Given the description of an element on the screen output the (x, y) to click on. 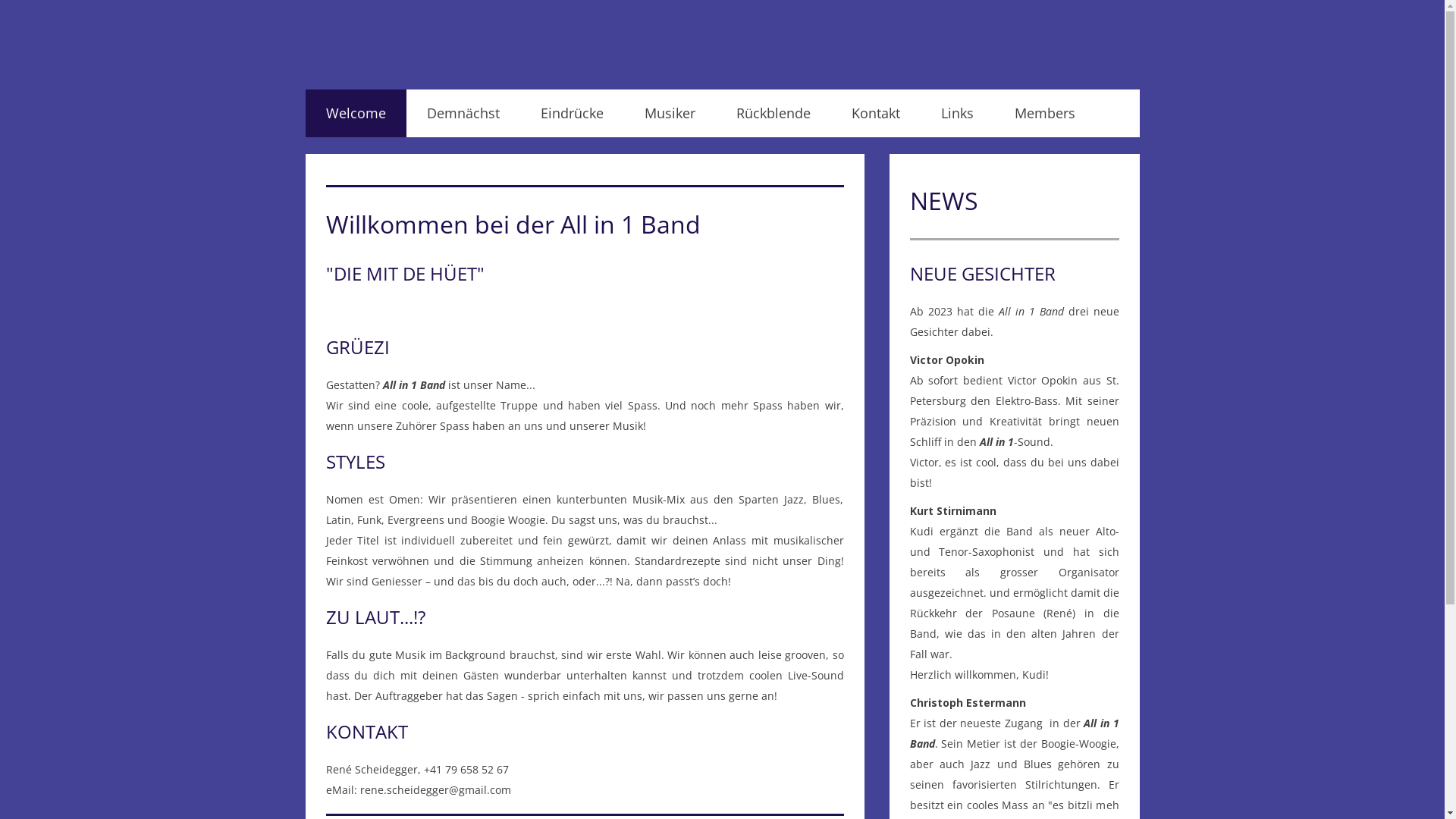
Welcome Element type: text (354, 113)
Kontakt Element type: text (875, 113)
Musiker Element type: text (669, 113)
Members Element type: text (1044, 113)
Links Element type: text (957, 113)
